Given the description of an element on the screen output the (x, y) to click on. 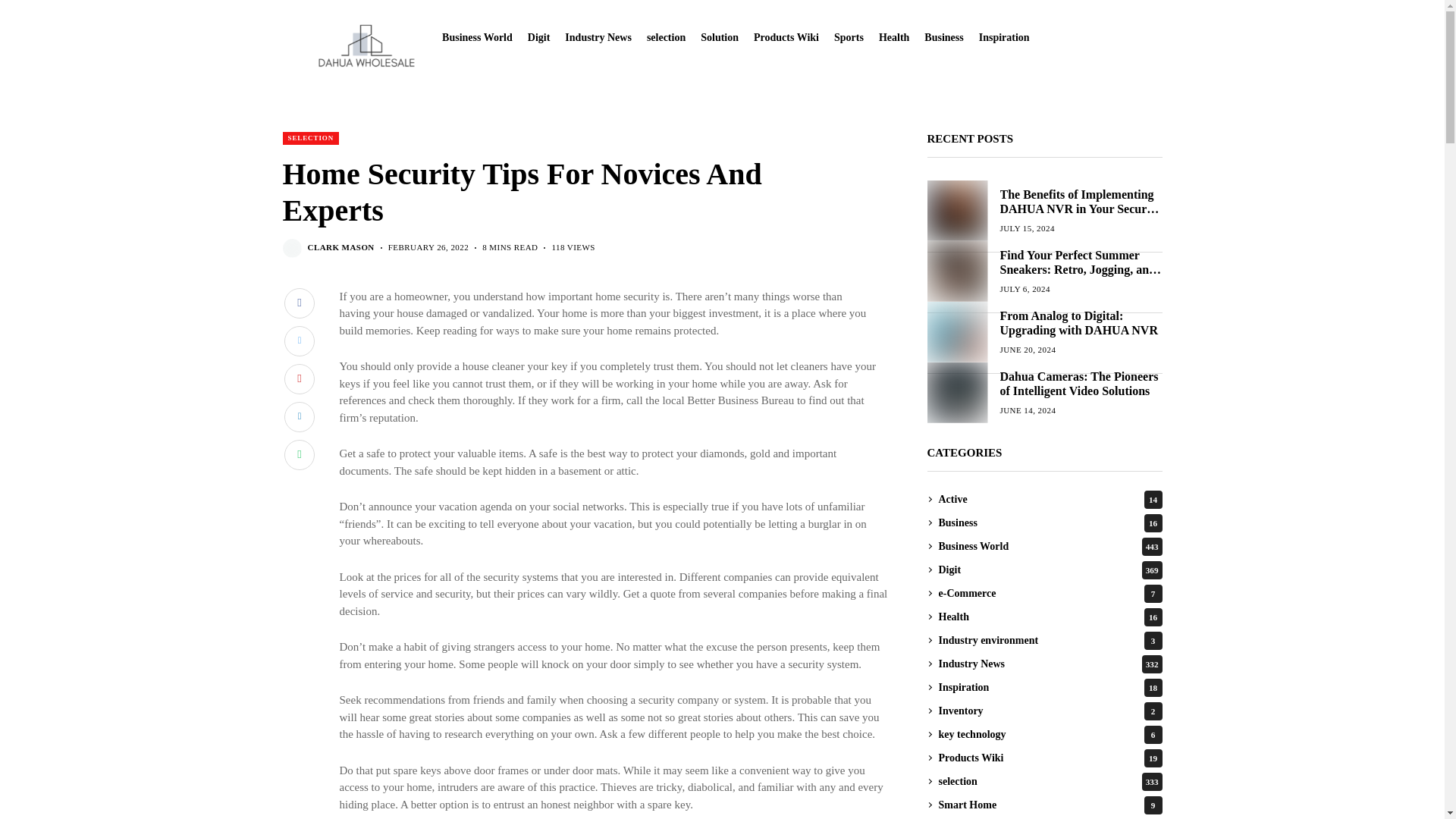
From Analog to Digital: Upgrading with DAHUA NVR (956, 331)
Sports (848, 37)
Business World (477, 37)
Business (943, 37)
Digit (538, 37)
CLARK MASON (340, 247)
Industry News (597, 37)
SELECTION (310, 137)
Health (893, 37)
Posts by Clark Mason (340, 247)
Solution (719, 37)
Products Wiki (786, 37)
selection (665, 37)
Inspiration (1003, 37)
